Given the description of an element on the screen output the (x, y) to click on. 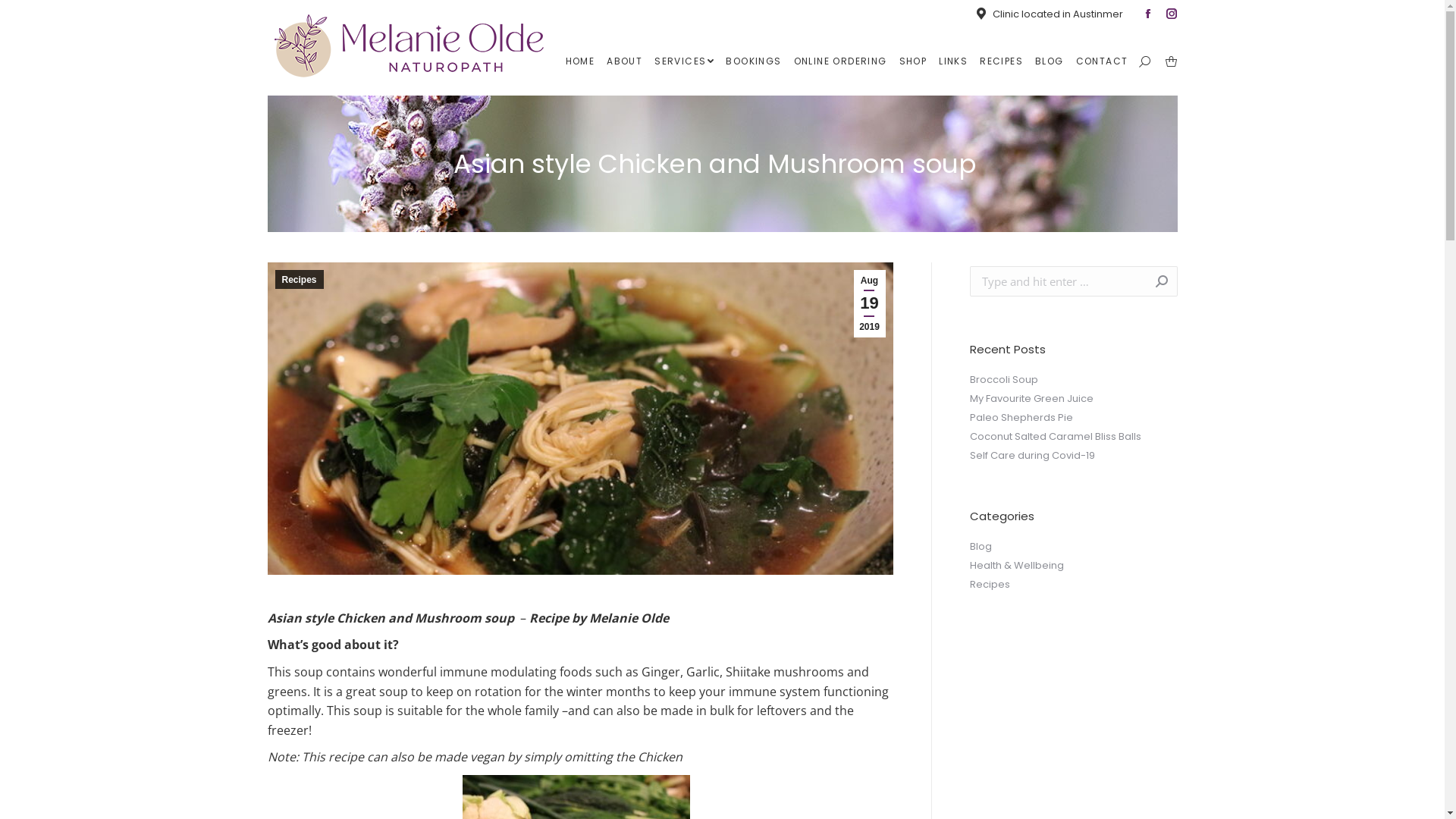
Aug
19
2019 Element type: text (869, 303)
BLOG Element type: text (1049, 60)
Recipes Element type: text (989, 584)
Coconut Salted Caramel Bliss Balls Element type: text (1054, 436)
My Favourite Green Juice Element type: text (1030, 398)
ONLINE ORDERING Element type: text (840, 60)
Health & Wellbeing Element type: text (1016, 565)
SHOP Element type: text (913, 60)
  Element type: text (1170, 60)
SERVICES Element type: text (683, 60)
Go! Element type: text (24, 16)
CONTACT Element type: text (1102, 60)
HOME Element type: text (580, 60)
Facebook page opens in new window Element type: text (1147, 13)
LINKS Element type: text (952, 60)
ABOUT Element type: text (624, 60)
BOOKINGS Element type: text (753, 60)
Go! Element type: text (1154, 281)
Recipes Element type: text (298, 278)
Blog Element type: text (980, 546)
Instagram page opens in new window Element type: text (1171, 13)
RECIPES Element type: text (1001, 60)
Paleo Shepherds Pie Element type: text (1020, 417)
Broccoli Soup Element type: text (1003, 379)
Asian Style Chicken and Mushroom soup Element type: hover (579, 418)
Self Care during Covid-19 Element type: text (1031, 455)
